Given the description of an element on the screen output the (x, y) to click on. 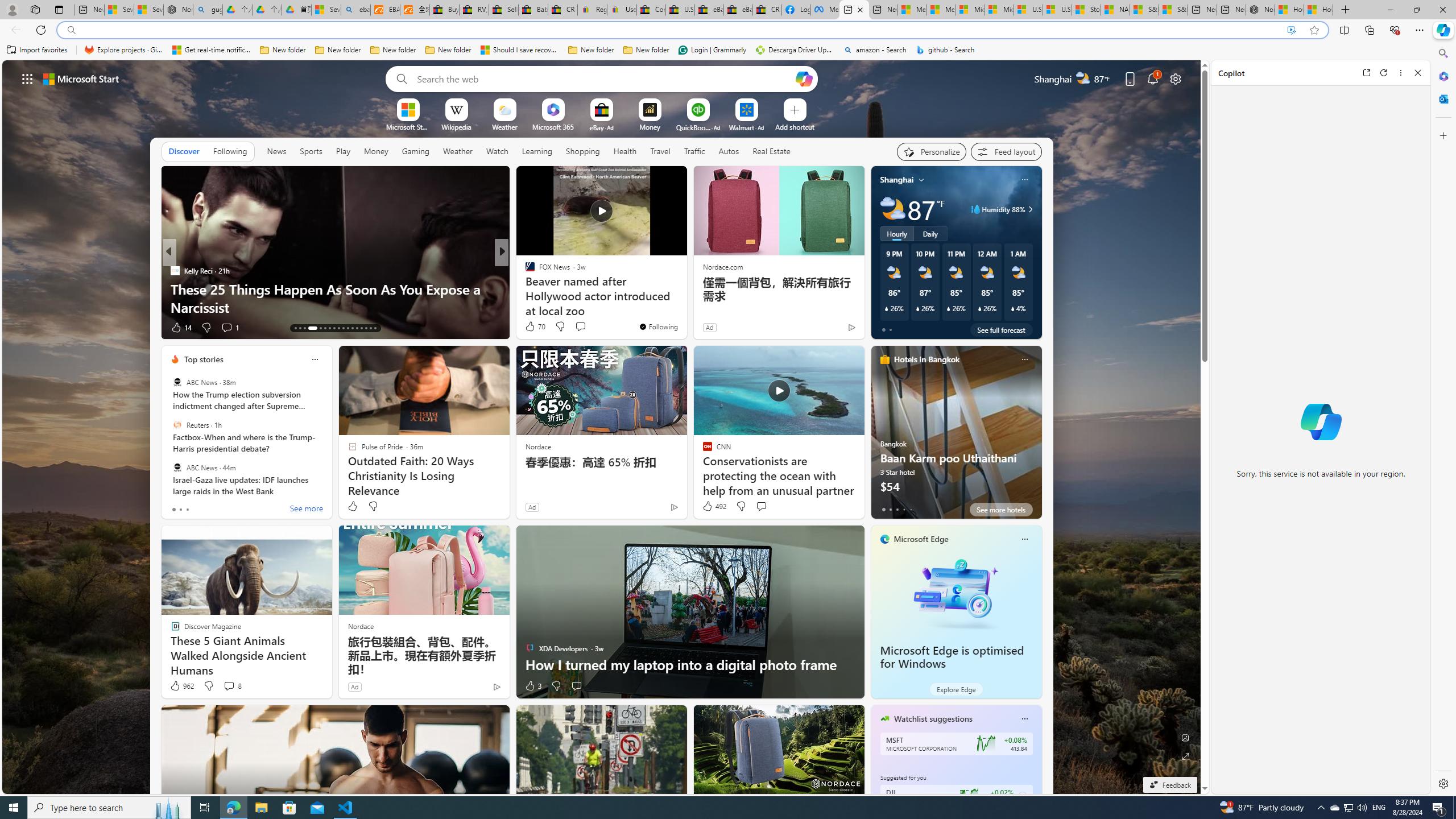
Page settings (1175, 78)
AutomationID: tab-14 (299, 328)
2k Like (530, 327)
Autos (729, 151)
31 Like (530, 327)
Men's Health (524, 270)
